Given the description of an element on the screen output the (x, y) to click on. 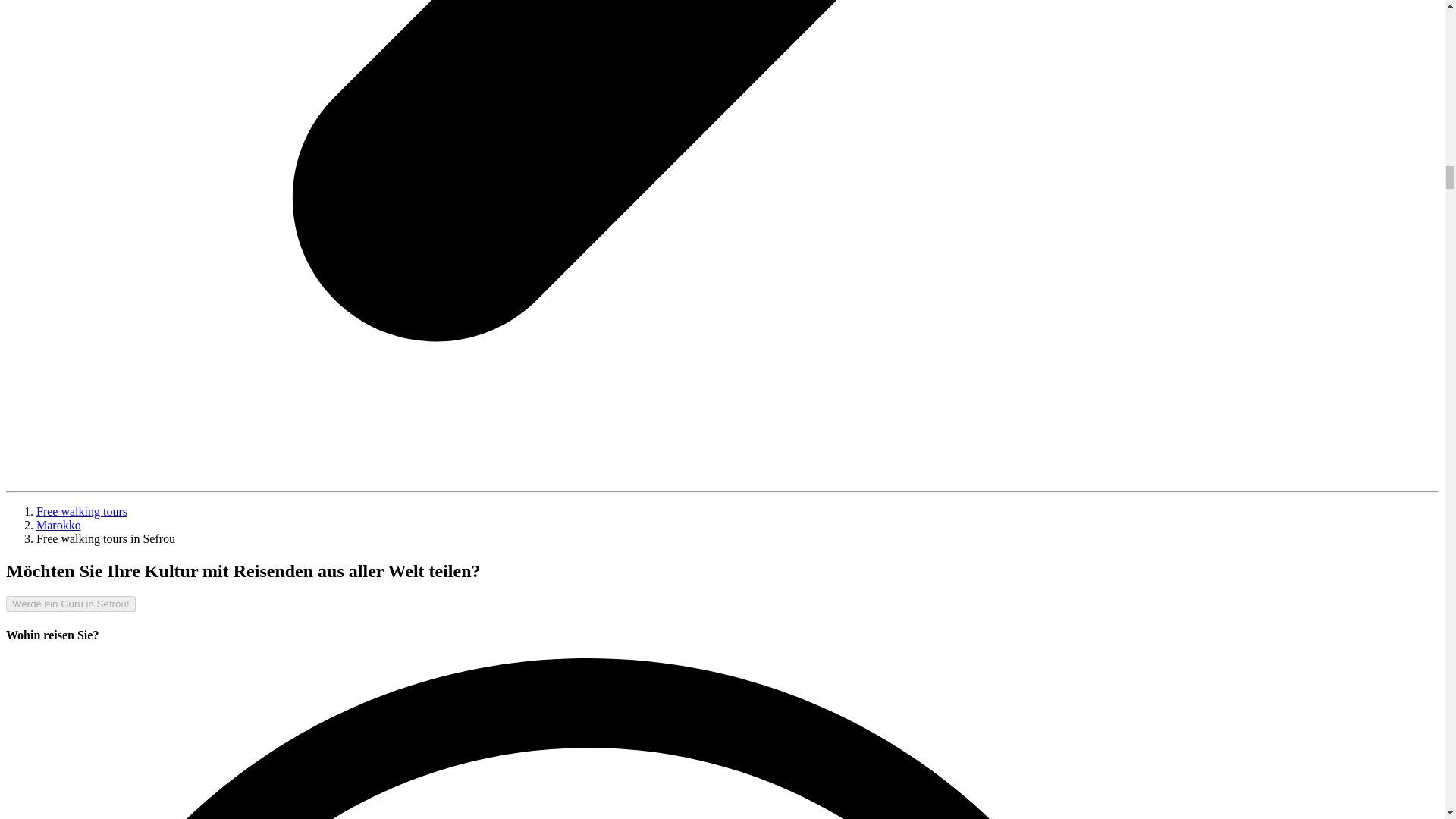
Free walking tours (82, 511)
Marokko (58, 524)
